Given the description of an element on the screen output the (x, y) to click on. 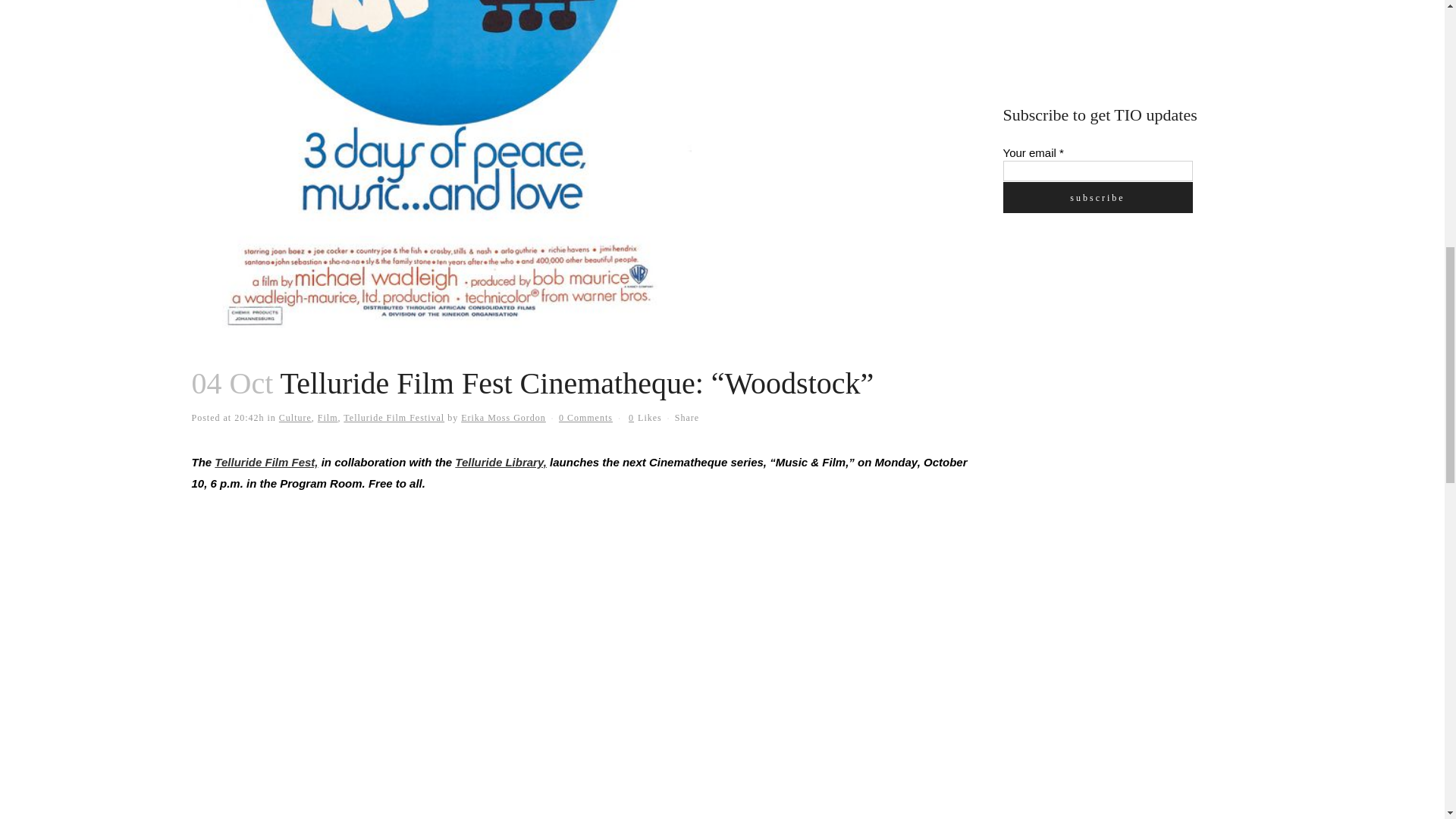
Like this (645, 417)
Subscribe (1097, 196)
Your email (1097, 170)
3rd party ad content (1116, 35)
3rd party ad content (1116, 339)
